Given the description of an element on the screen output the (x, y) to click on. 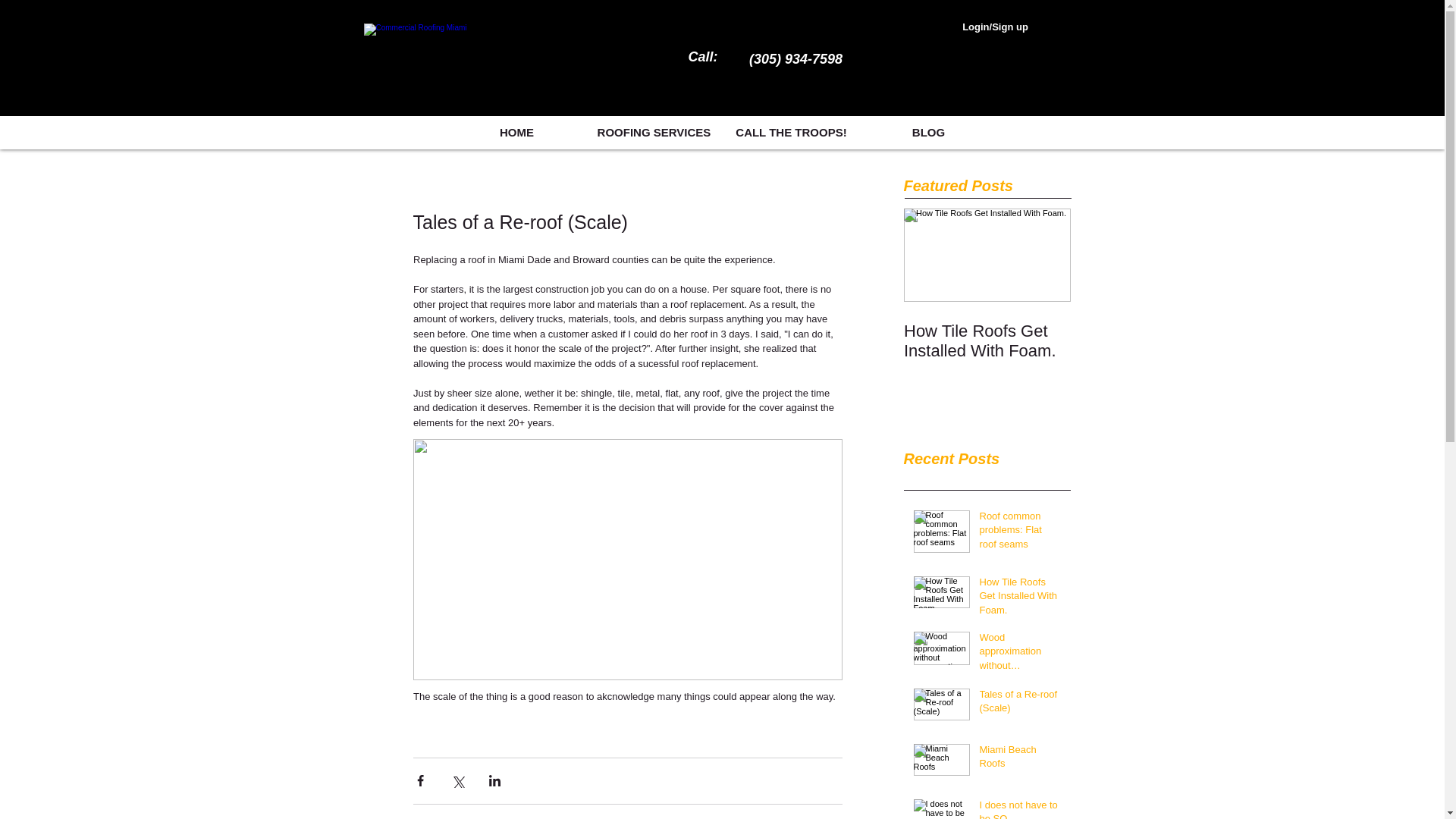
Roof common problems: Flat roof seams (1020, 533)
How Tile Roofs Get Installed With Foam. (1020, 599)
CALL THE TROOPS! (790, 132)
I does not have to be SO... complicated. (1020, 808)
Miami Beach Roofs (1020, 759)
ROOFING SERVICES (653, 132)
How Tile Roofs Get Installed With Foam. (987, 341)
HOME (515, 132)
Wood approximation without exaggeration. (1020, 654)
BLOG (928, 132)
